Given the description of an element on the screen output the (x, y) to click on. 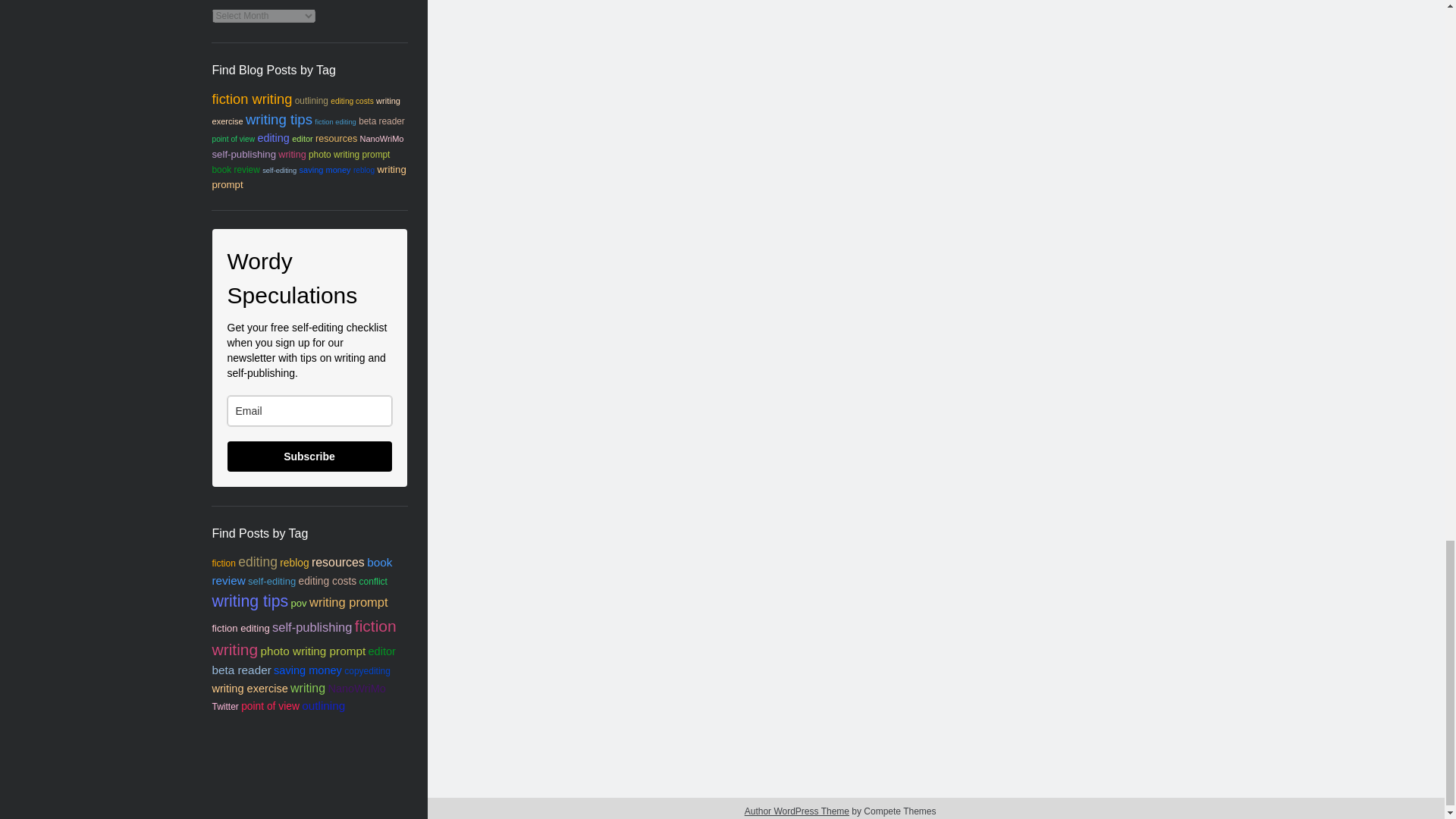
fiction writing (252, 98)
editing costs (352, 101)
outlining (312, 100)
